Given the description of an element on the screen output the (x, y) to click on. 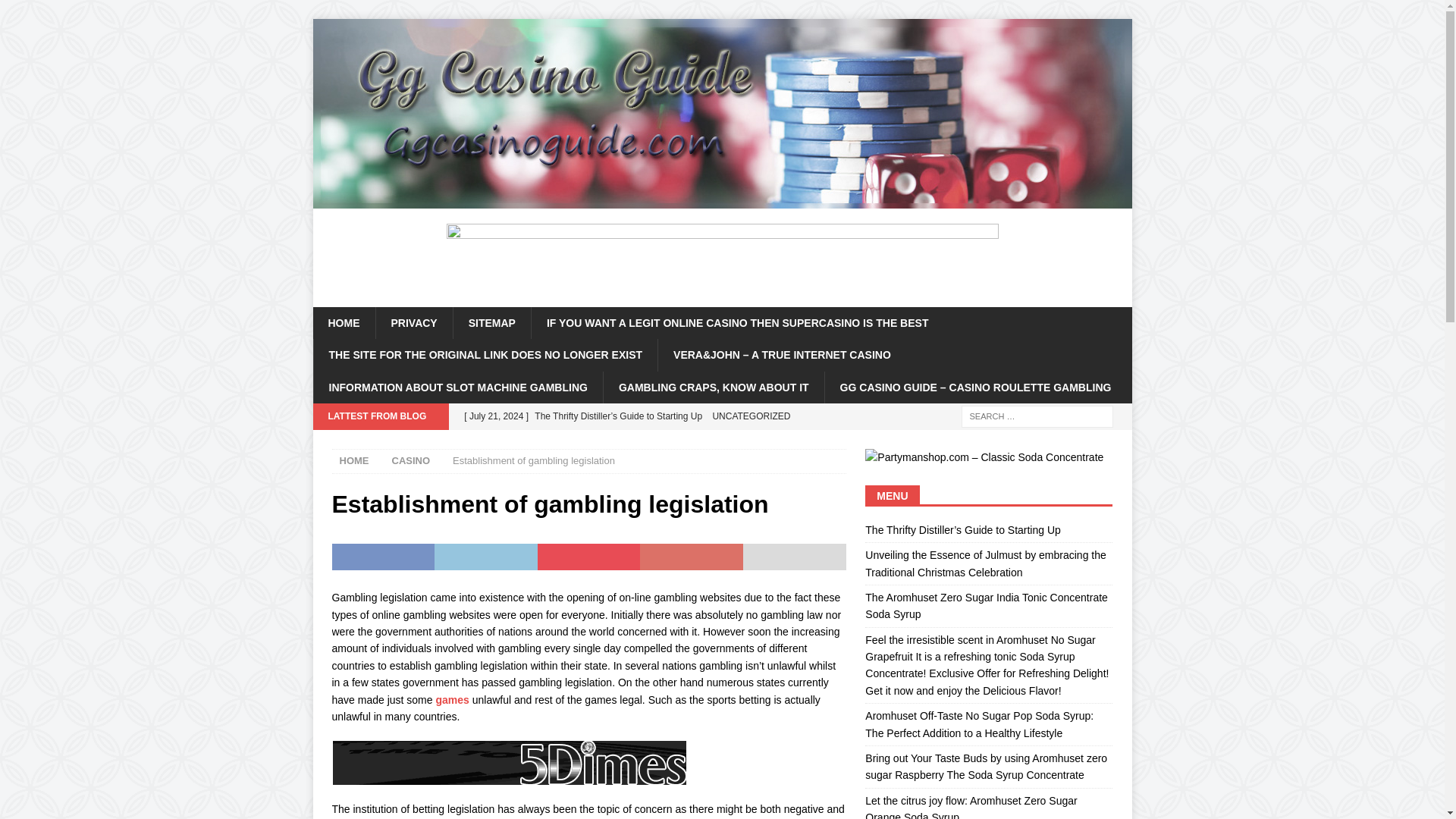
PRIVACY (412, 323)
HOME (343, 323)
Ggcasinoguide (722, 200)
Search (56, 11)
HOME (354, 460)
INFORMATION ABOUT SLOT MACHINE GAMBLING (457, 387)
THE SITE FOR THE ORIGINAL LINK DOES NO LONGER EXIST (485, 355)
SITEMAP (491, 323)
games (451, 698)
